Given the description of an element on the screen output the (x, y) to click on. 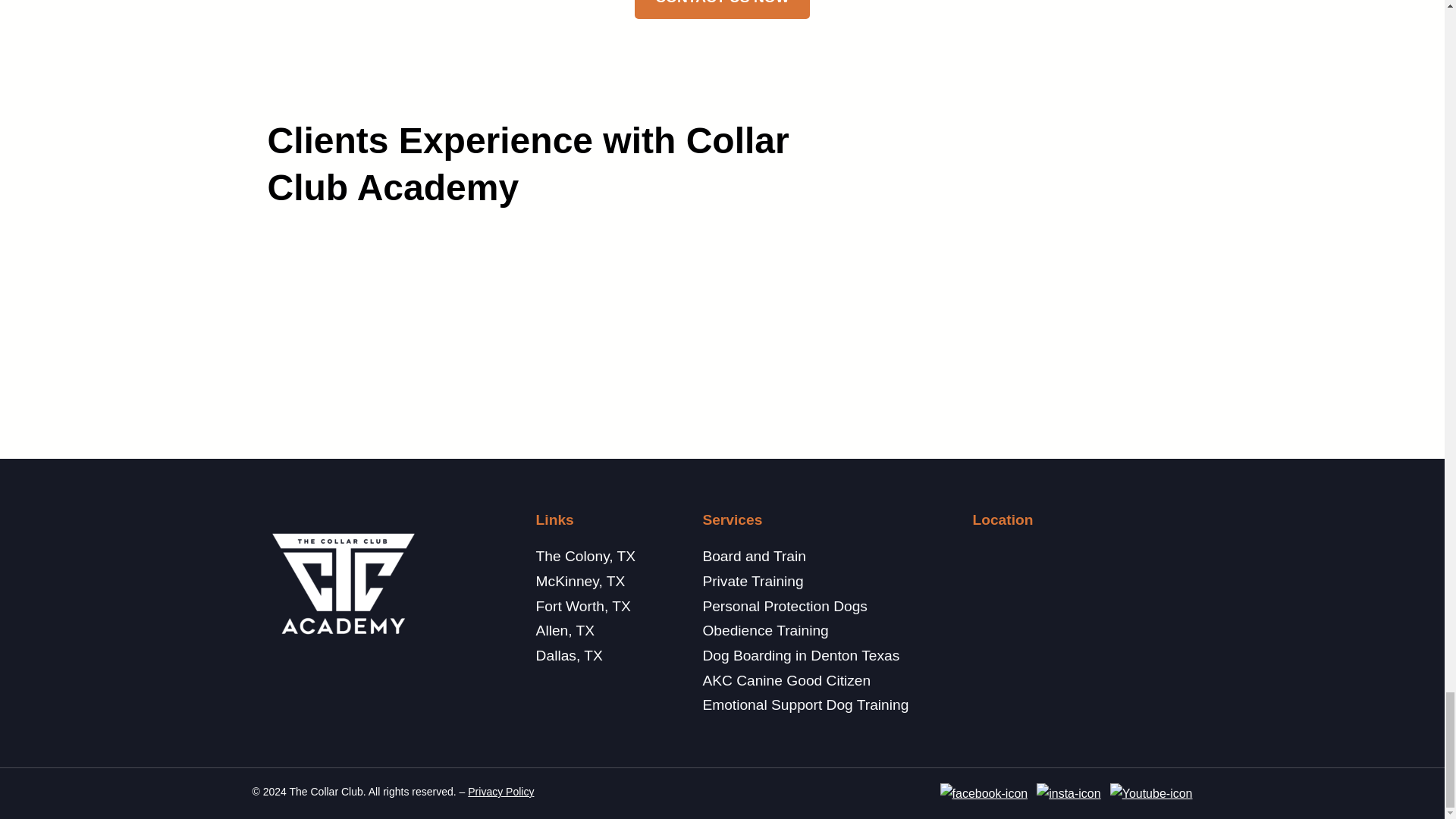
Dallas, TX (568, 655)
Private Training (752, 580)
McKinney, TX (580, 580)
Emotional Support Dog Training (804, 704)
myMap (1074, 610)
CONTACT US NOW (722, 9)
Personal Protection Dogs (784, 606)
Allen, TX (565, 630)
The Colony, TX (585, 555)
Dog Boarding in Denton Texas (800, 655)
Obedience Training (764, 630)
Board and Train (753, 555)
AKC Canine Good Citizen (785, 680)
Fort Worth, TX (582, 606)
